Given the description of an element on the screen output the (x, y) to click on. 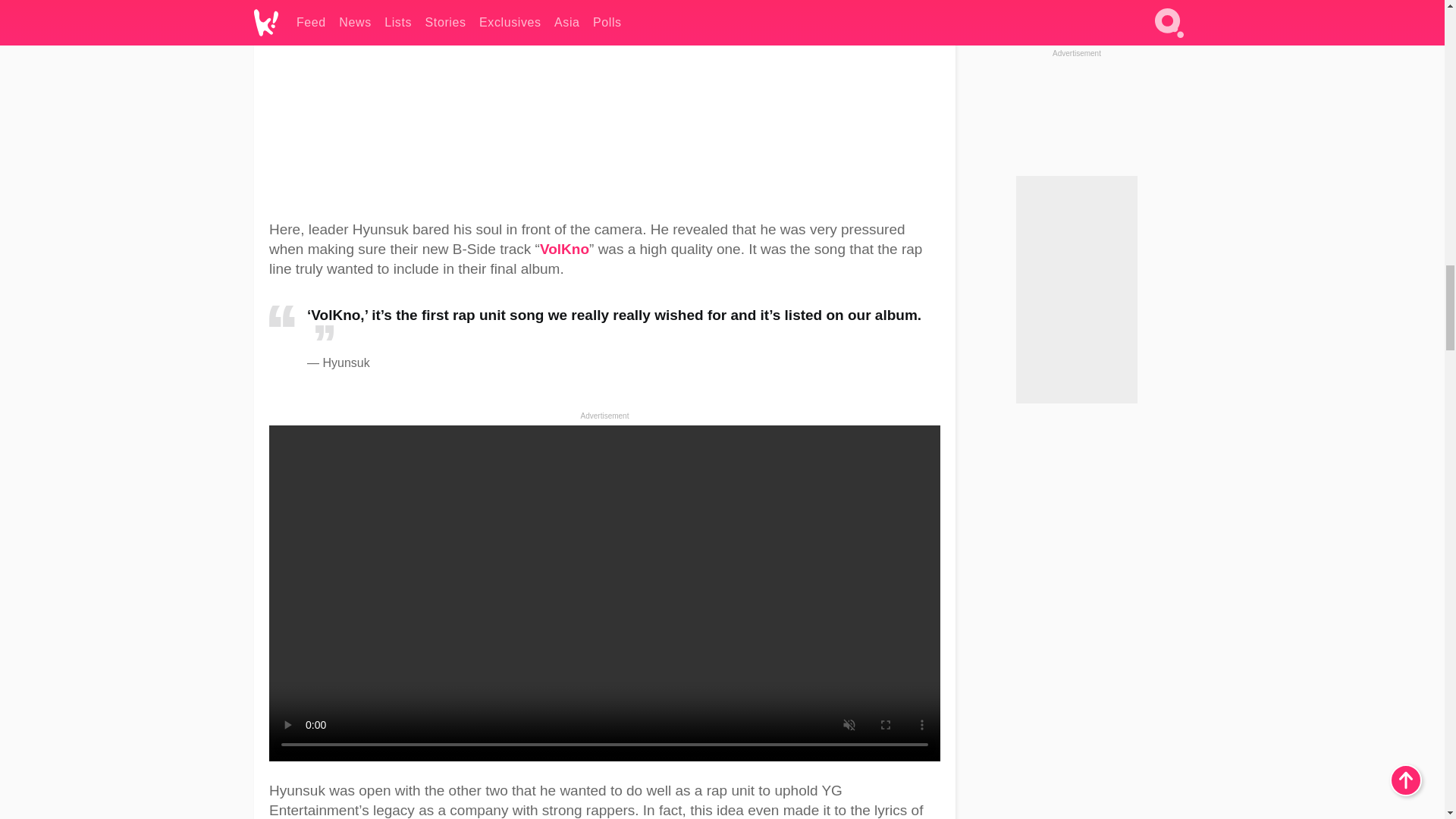
VolKno (564, 248)
